Given the description of an element on the screen output the (x, y) to click on. 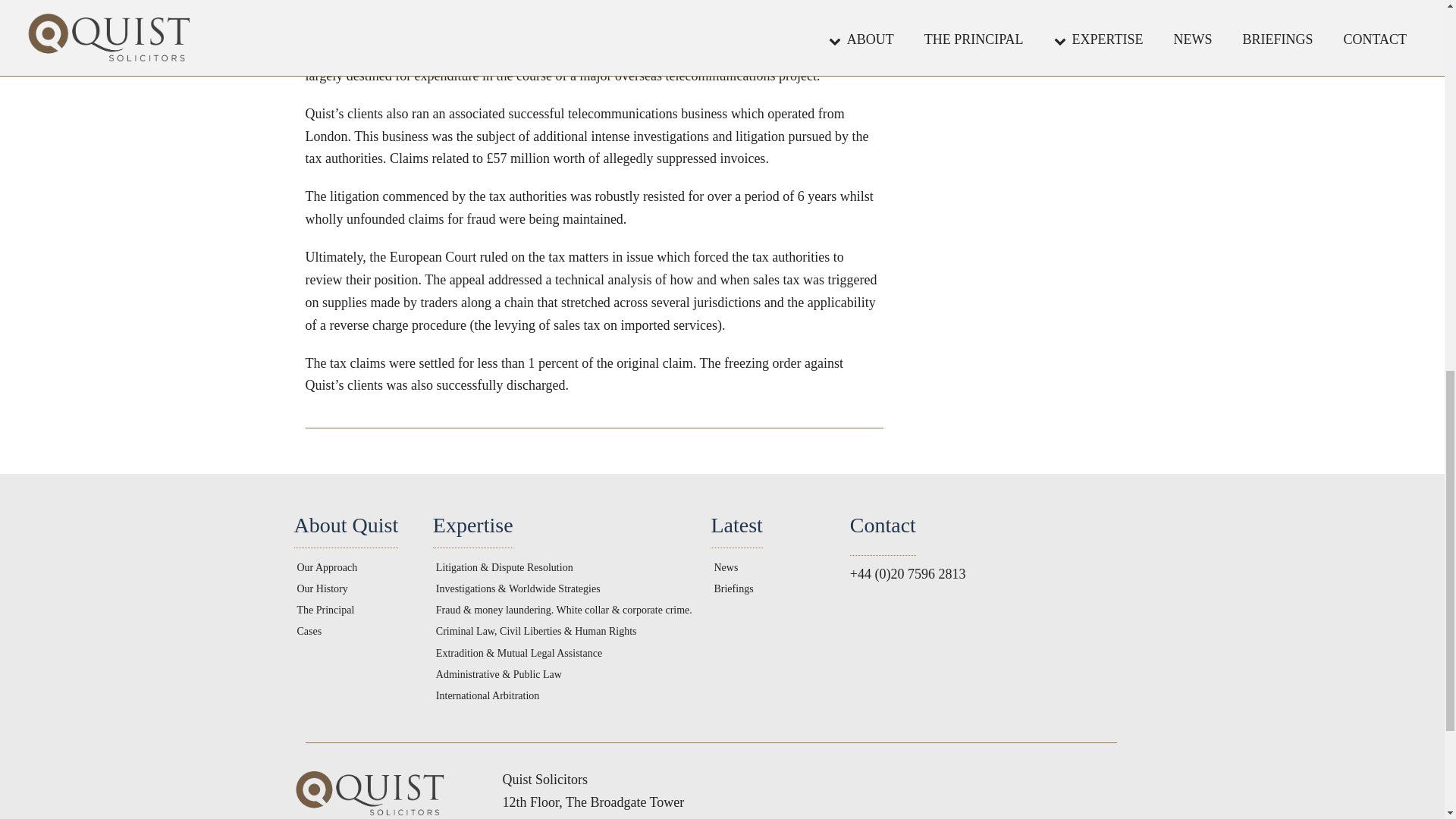
Cases (309, 631)
Our History (322, 589)
Our Approach (327, 567)
The Principal (326, 610)
